Given the description of an element on the screen output the (x, y) to click on. 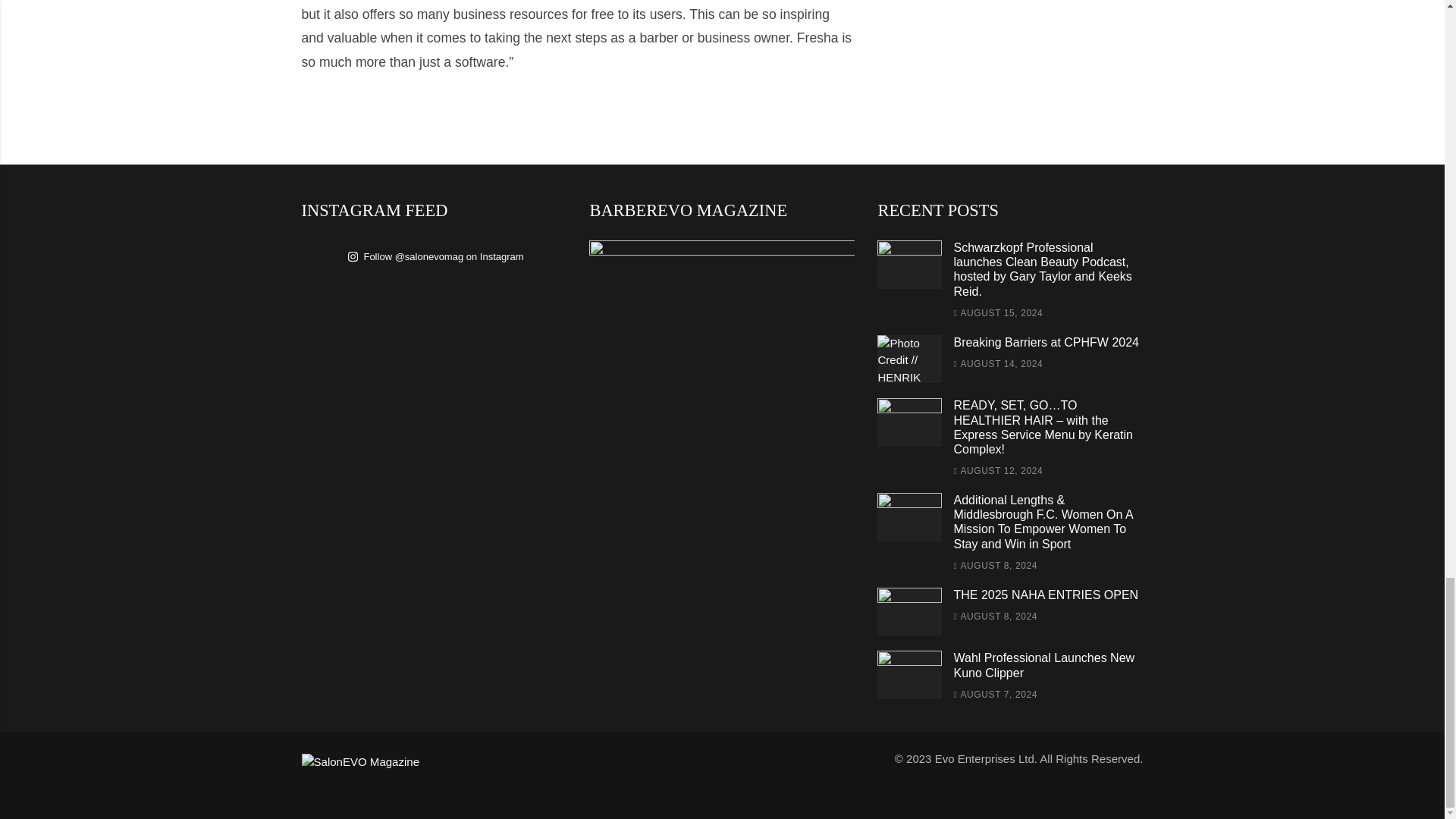
Breaking Barriers at CPHFW 2024 (1045, 341)
Breaking Barriers at CPHFW 2024 (909, 358)
